Given the description of an element on the screen output the (x, y) to click on. 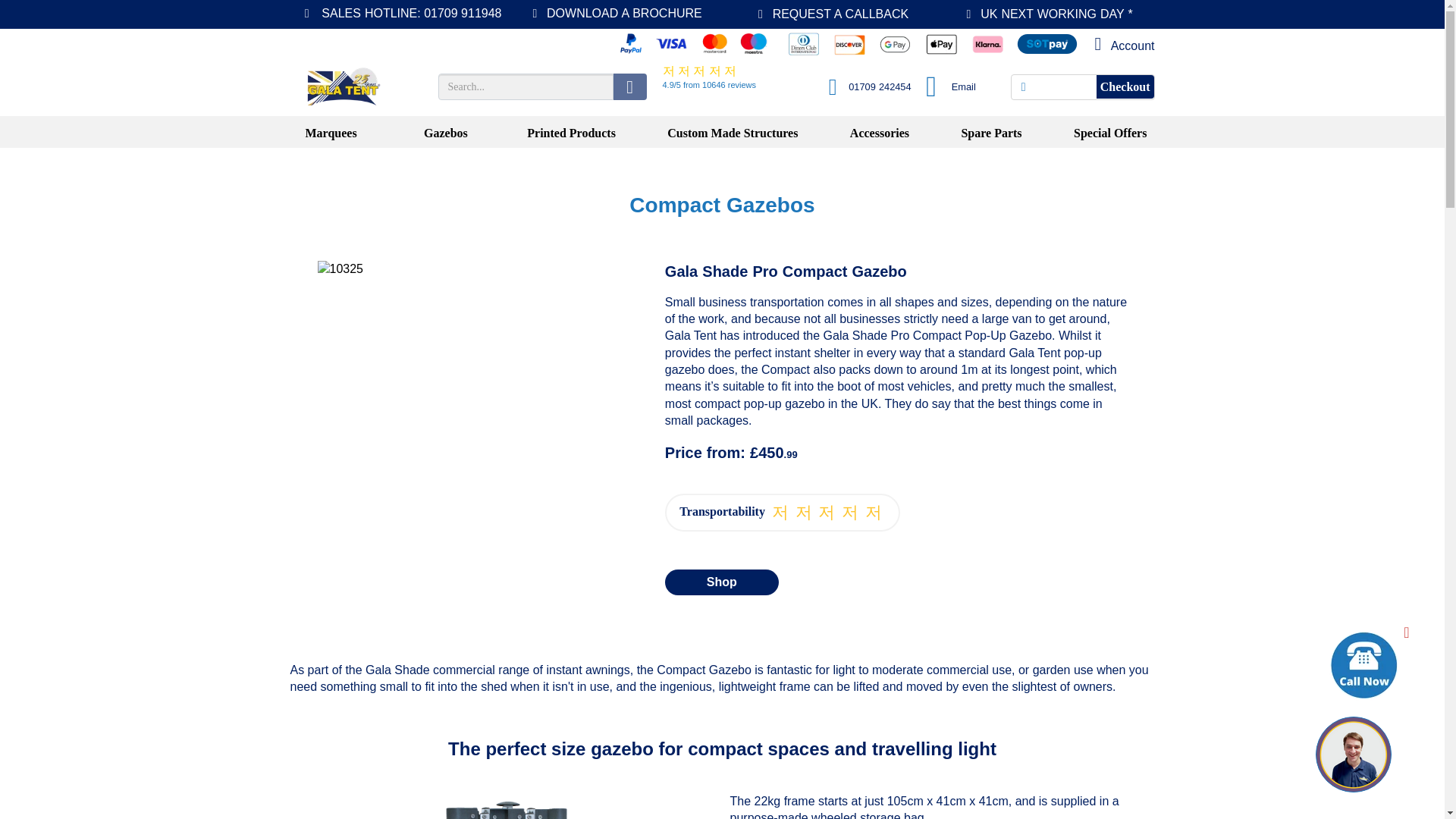
Click here to request a call back (1353, 754)
Accepted payment methods (813, 43)
Gazebos (445, 132)
View your basket or checkout (1082, 86)
Contact Us (1119, 43)
Checkout (1125, 86)
View our reviews! (722, 76)
Call us (863, 87)
DOWNLOAD A BROCHURE (613, 12)
Accessories (880, 133)
01709 242454 (863, 87)
Search for a product (542, 86)
SALES HOTLINE: 01709 911948 (397, 12)
Custom Made Structures (732, 133)
REQUEST A CALLBACK (830, 13)
